Given the description of an element on the screen output the (x, y) to click on. 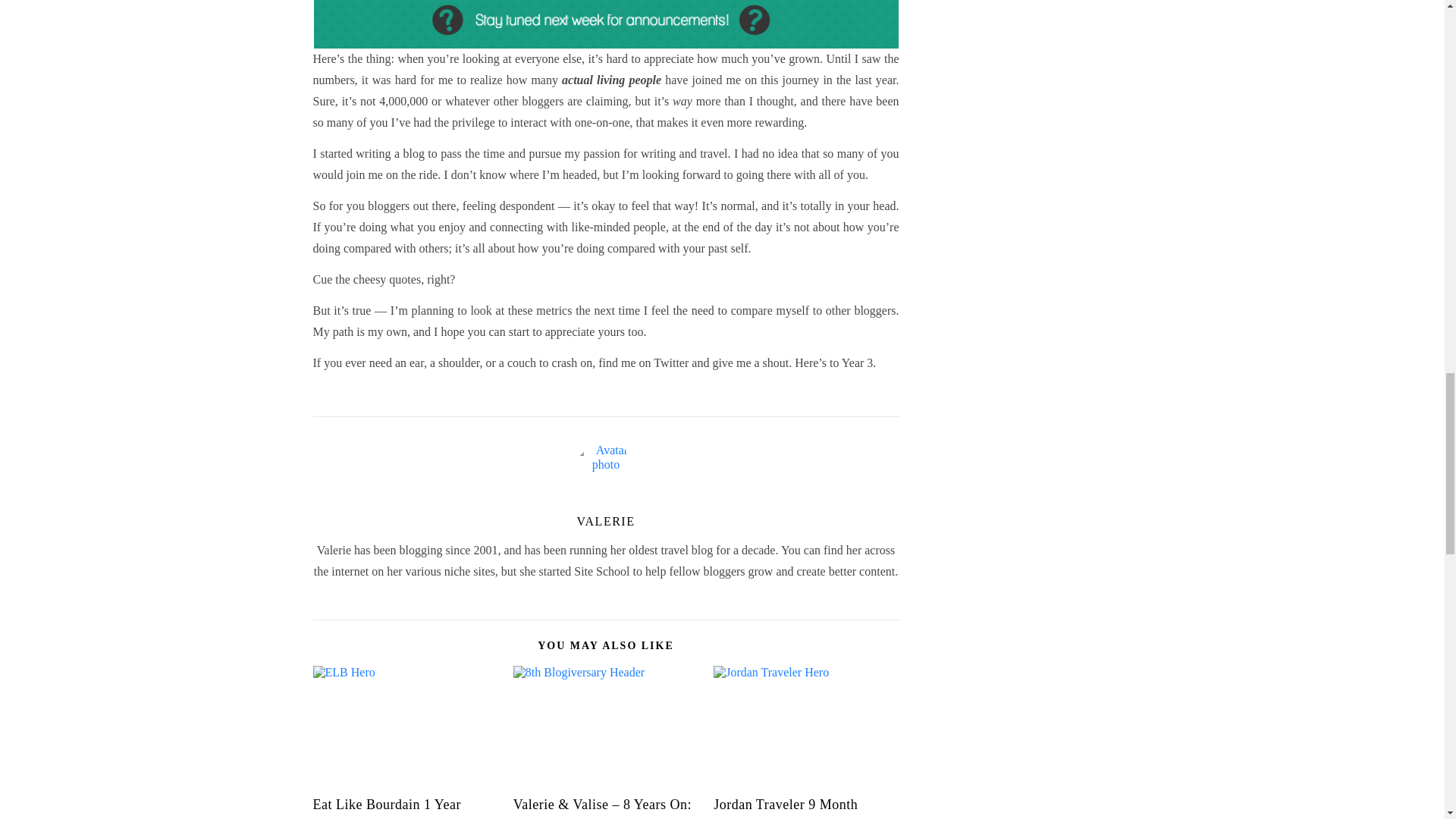
Posts by Valerie (605, 521)
